Given the description of an element on the screen output the (x, y) to click on. 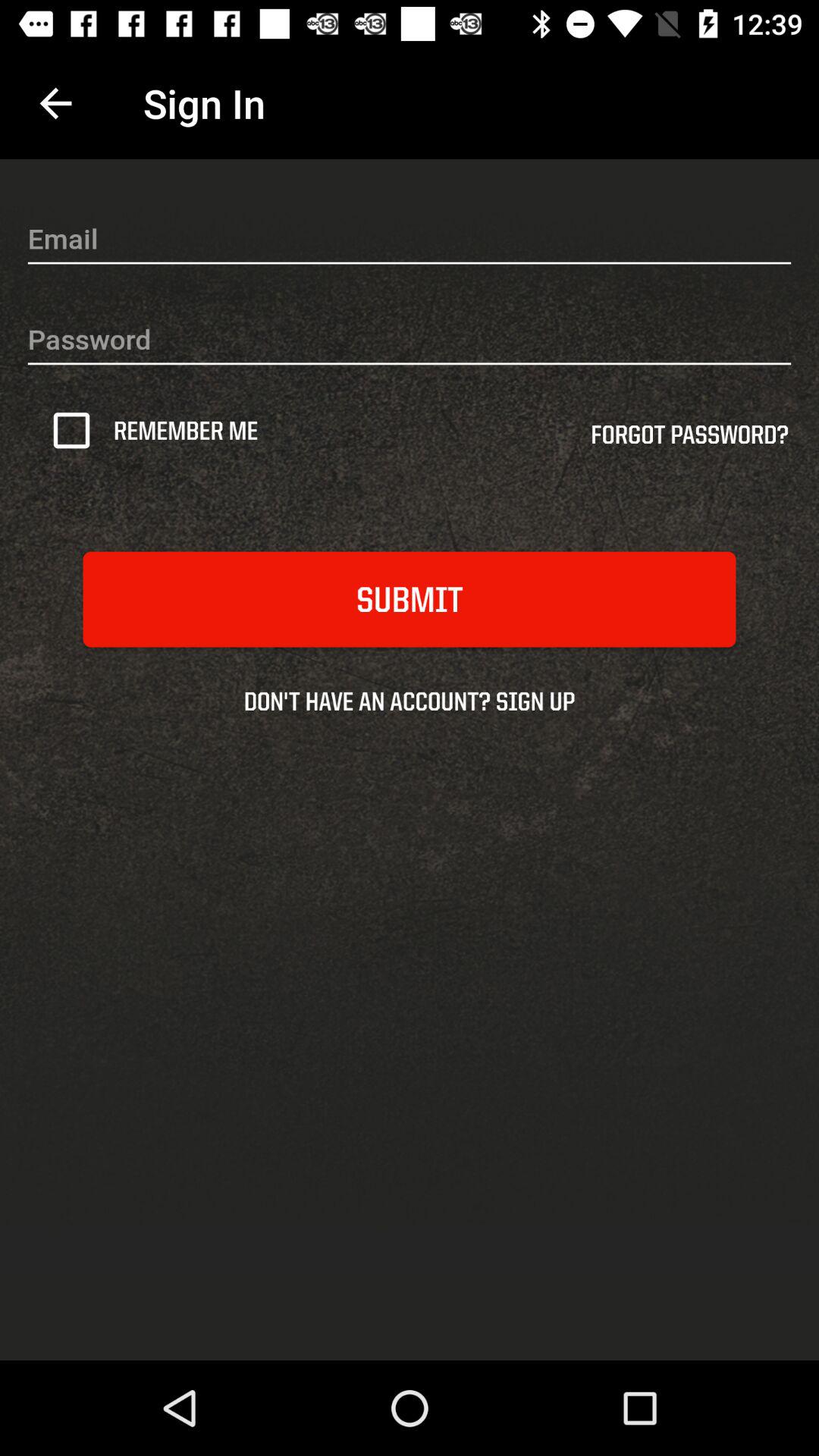
open don t have item (409, 700)
